Given the description of an element on the screen output the (x, y) to click on. 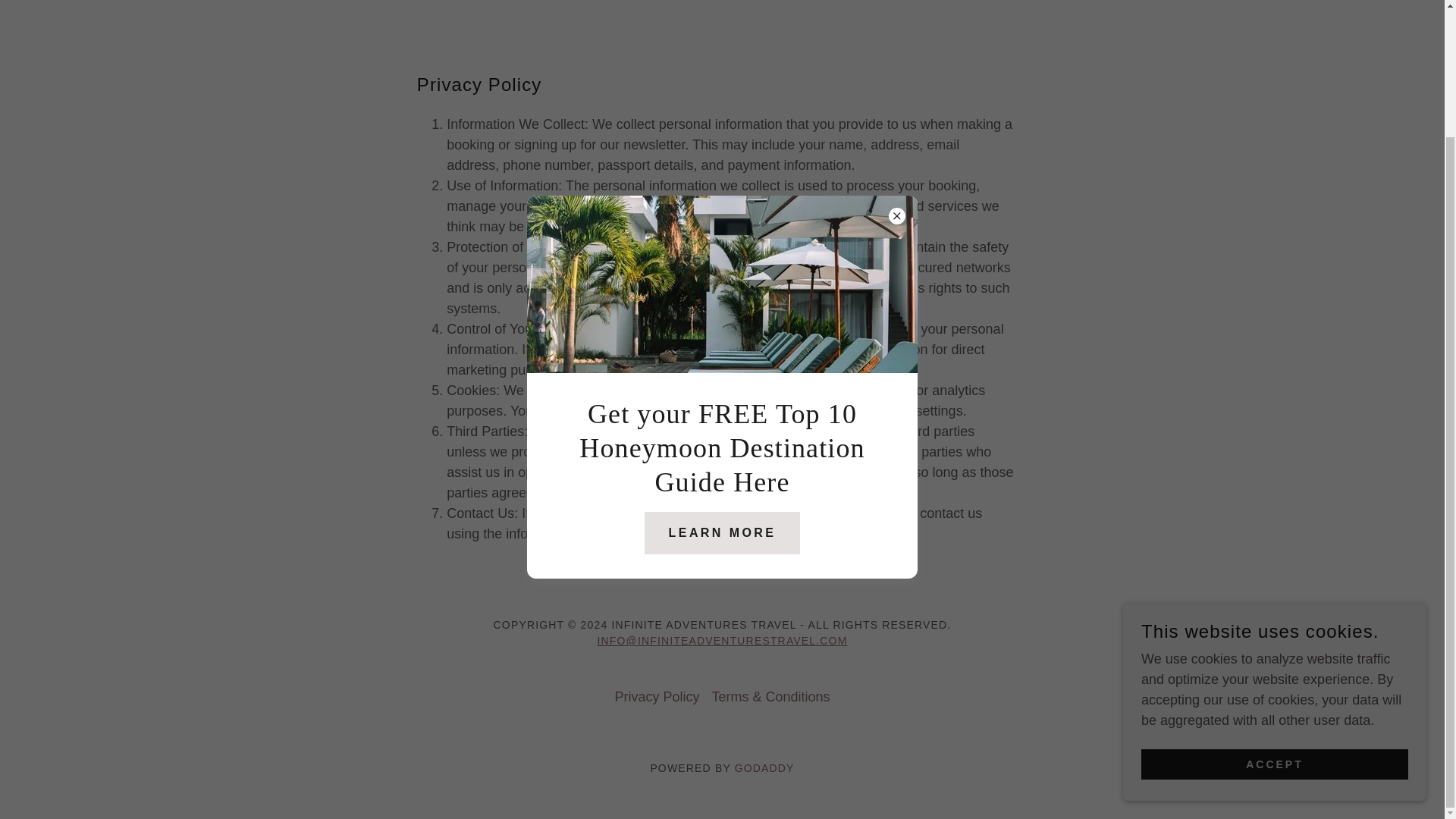
BOOK SANDALS HONEYMOON (726, 2)
ACCEPT (1274, 610)
Privacy Policy (656, 697)
HOME (369, 2)
MORE (1066, 0)
WHAT TO EXPECT (940, 2)
GODADDY (764, 767)
LEARN MORE (722, 378)
